Given the description of an element on the screen output the (x, y) to click on. 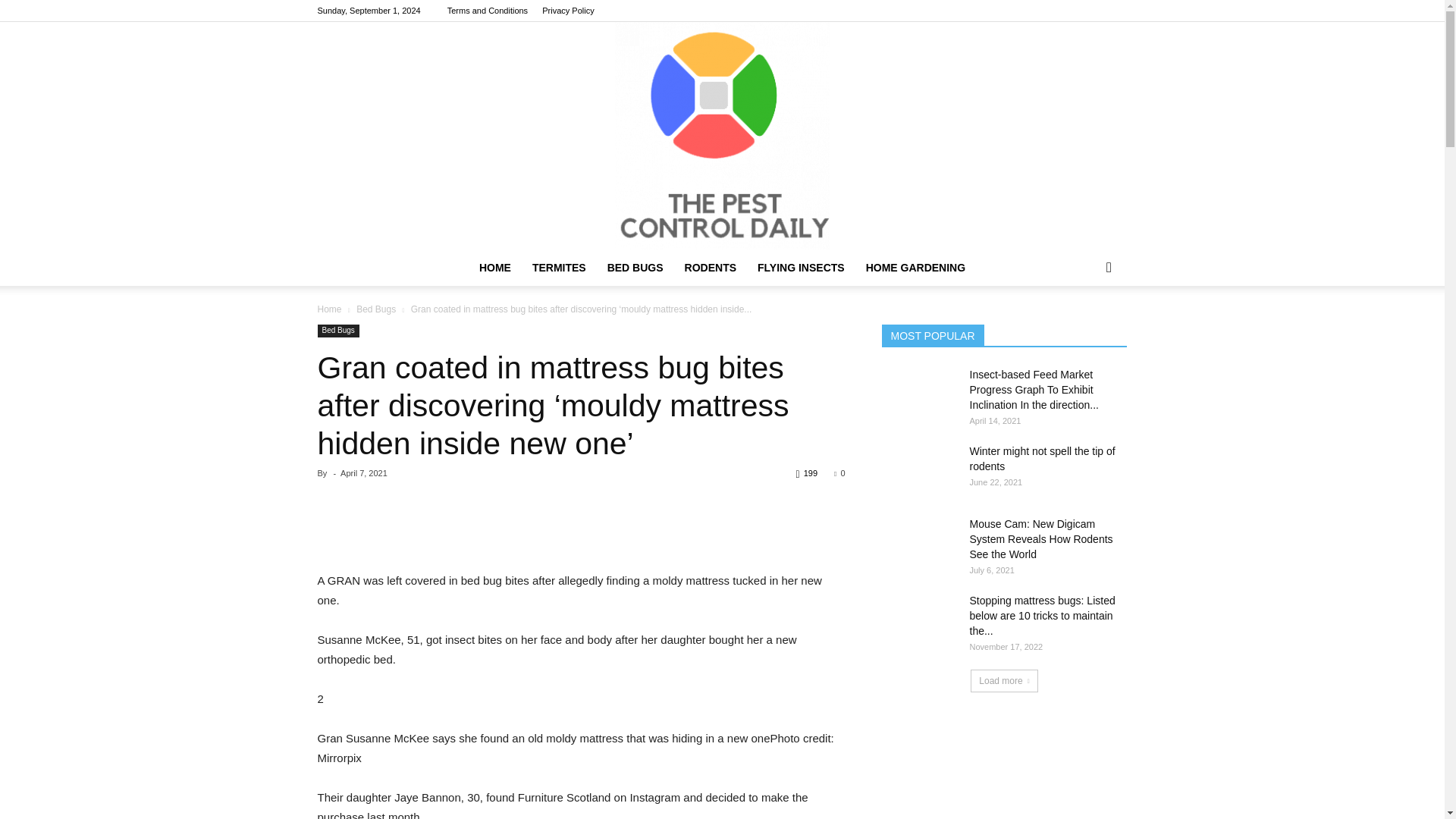
RODENTS (710, 267)
Terms and Conditions (486, 10)
Home (328, 308)
TERMITES (558, 267)
Privacy Policy (567, 10)
0 (839, 472)
HOME (494, 267)
BED BUGS (635, 267)
Search (1085, 328)
FLYING INSECTS (801, 267)
